Given the description of an element on the screen output the (x, y) to click on. 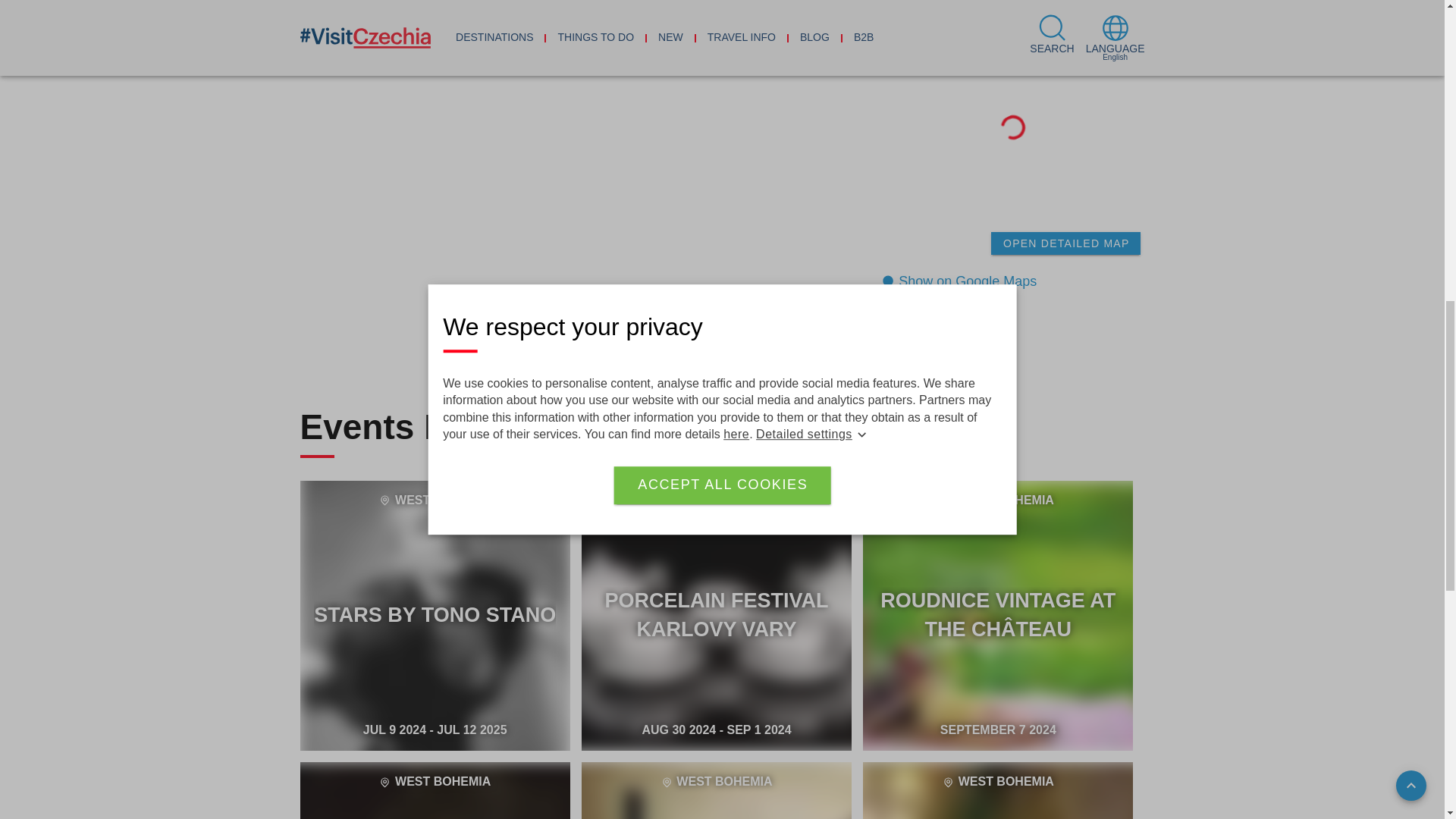
Show on Google Maps (997, 790)
OPEN DETAILED MAP (958, 283)
